Given the description of an element on the screen output the (x, y) to click on. 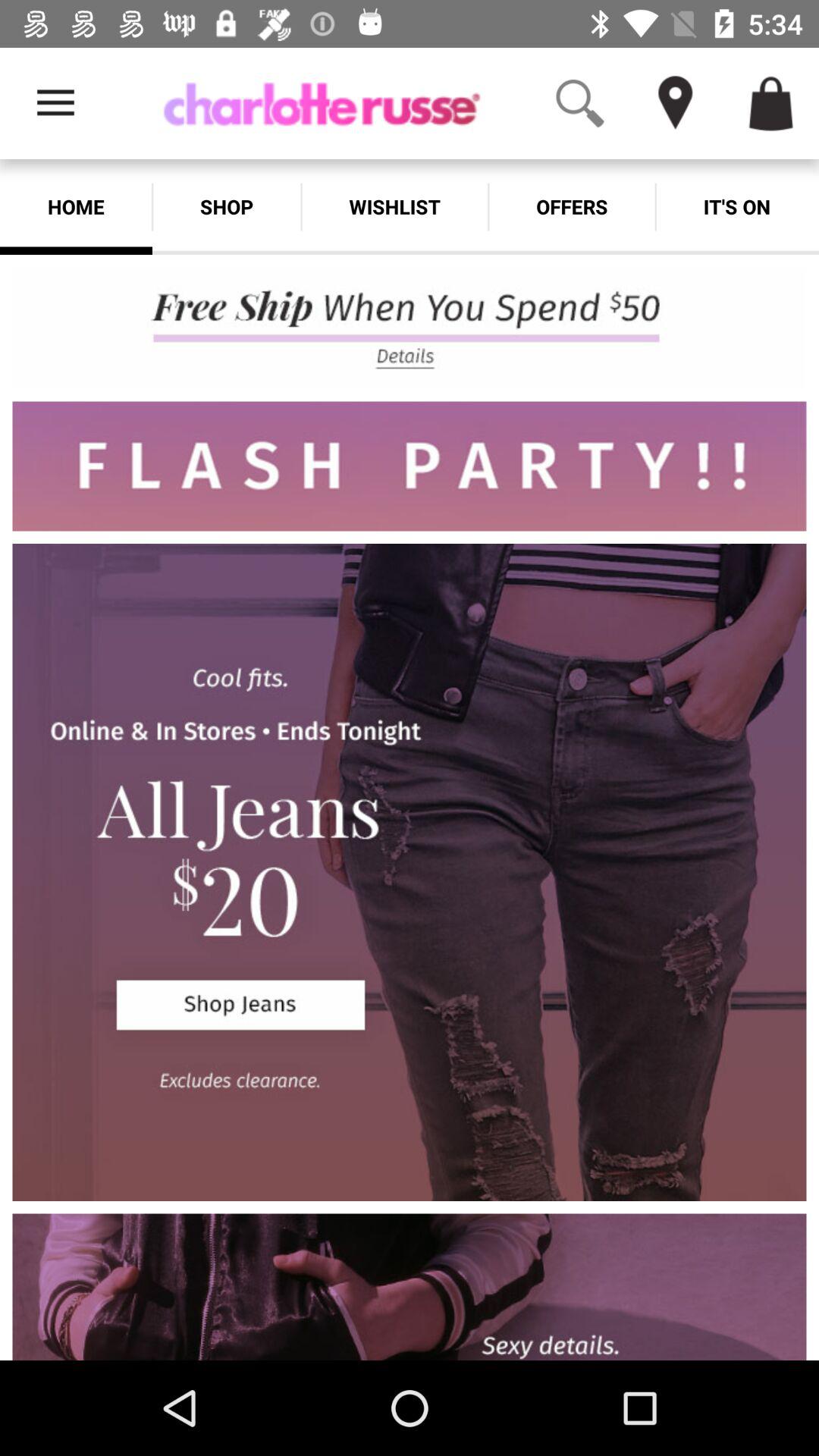
turn off the app above the home app (55, 103)
